Given the description of an element on the screen output the (x, y) to click on. 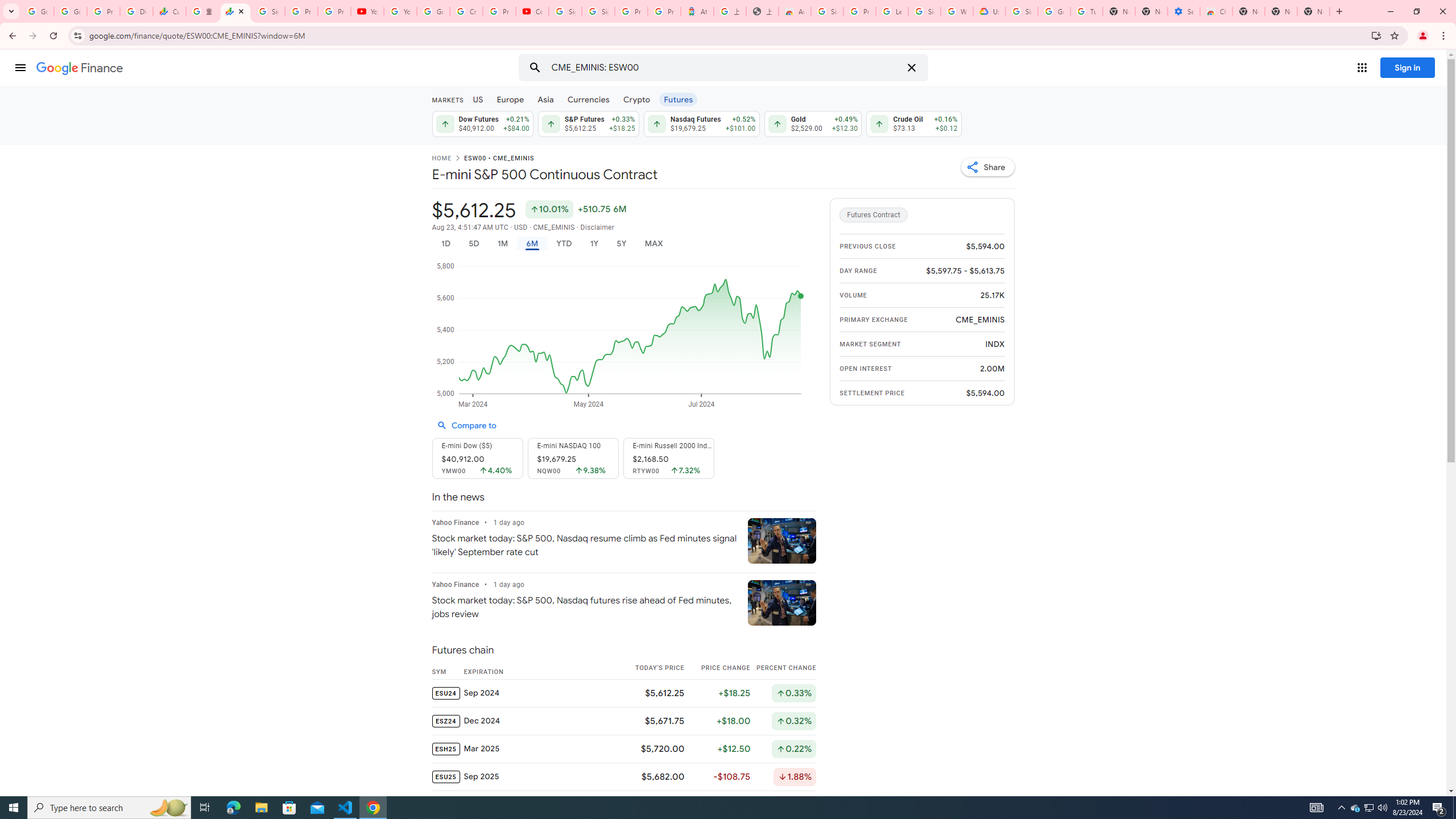
Google Account Help (1053, 11)
MAX (653, 243)
YouTube (367, 11)
Finance (79, 68)
Who are Google's partners? - Privacy and conditions - Google (957, 11)
New Tab (1248, 11)
6M (531, 243)
Europe (510, 99)
